Given the description of an element on the screen output the (x, y) to click on. 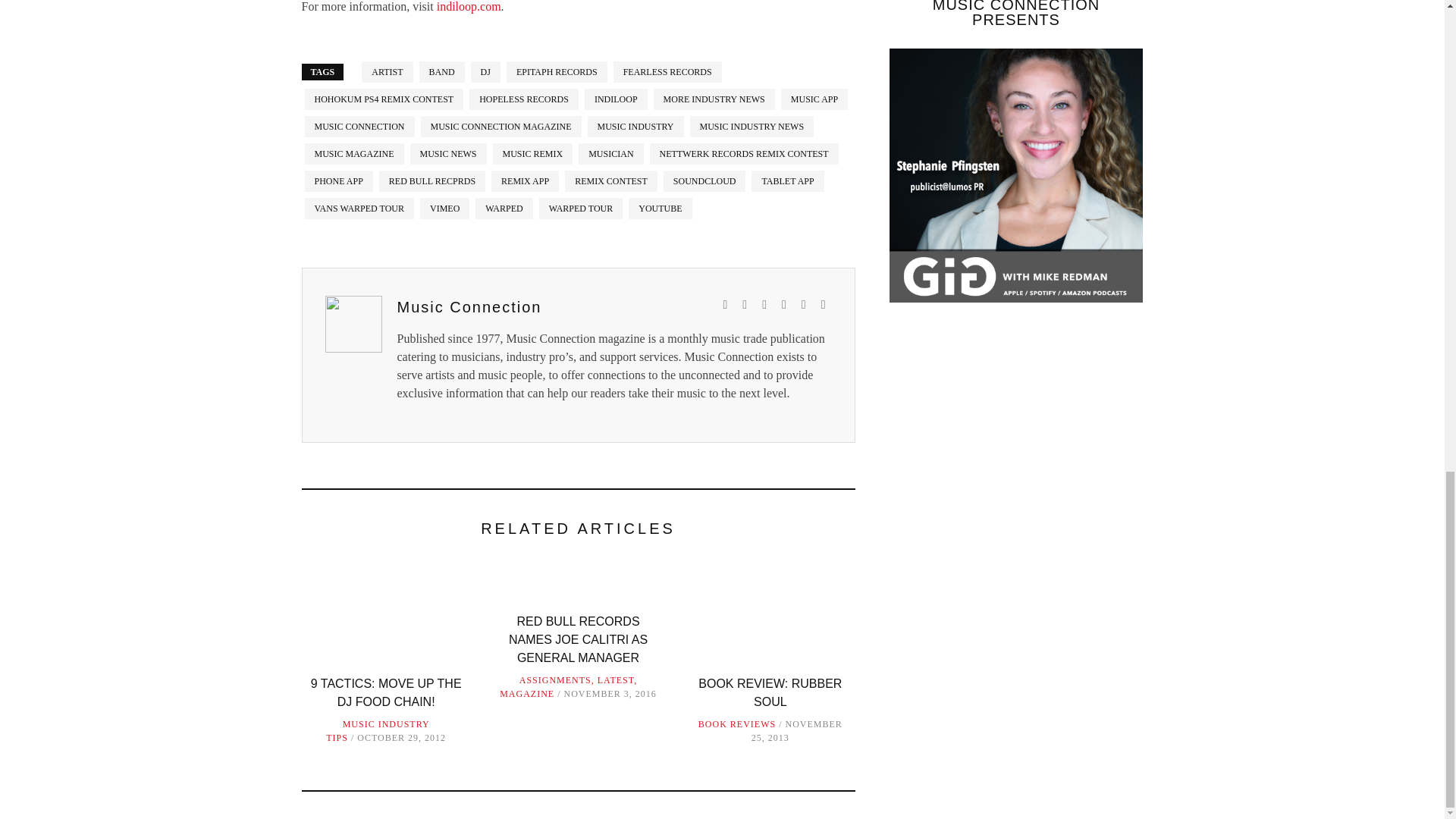
View all posts tagged artist (386, 71)
View all posts tagged dj (485, 71)
View all posts tagged fearless records (667, 71)
View all posts tagged Hohokum PS4 Remix Contest (384, 98)
View all posts tagged music connection (359, 126)
View all posts tagged indiloop (616, 98)
View all posts tagged music app (813, 98)
View all posts tagged band (441, 71)
View all posts tagged epitaph records (556, 71)
View all posts tagged more industry news (713, 98)
